Given the description of an element on the screen output the (x, y) to click on. 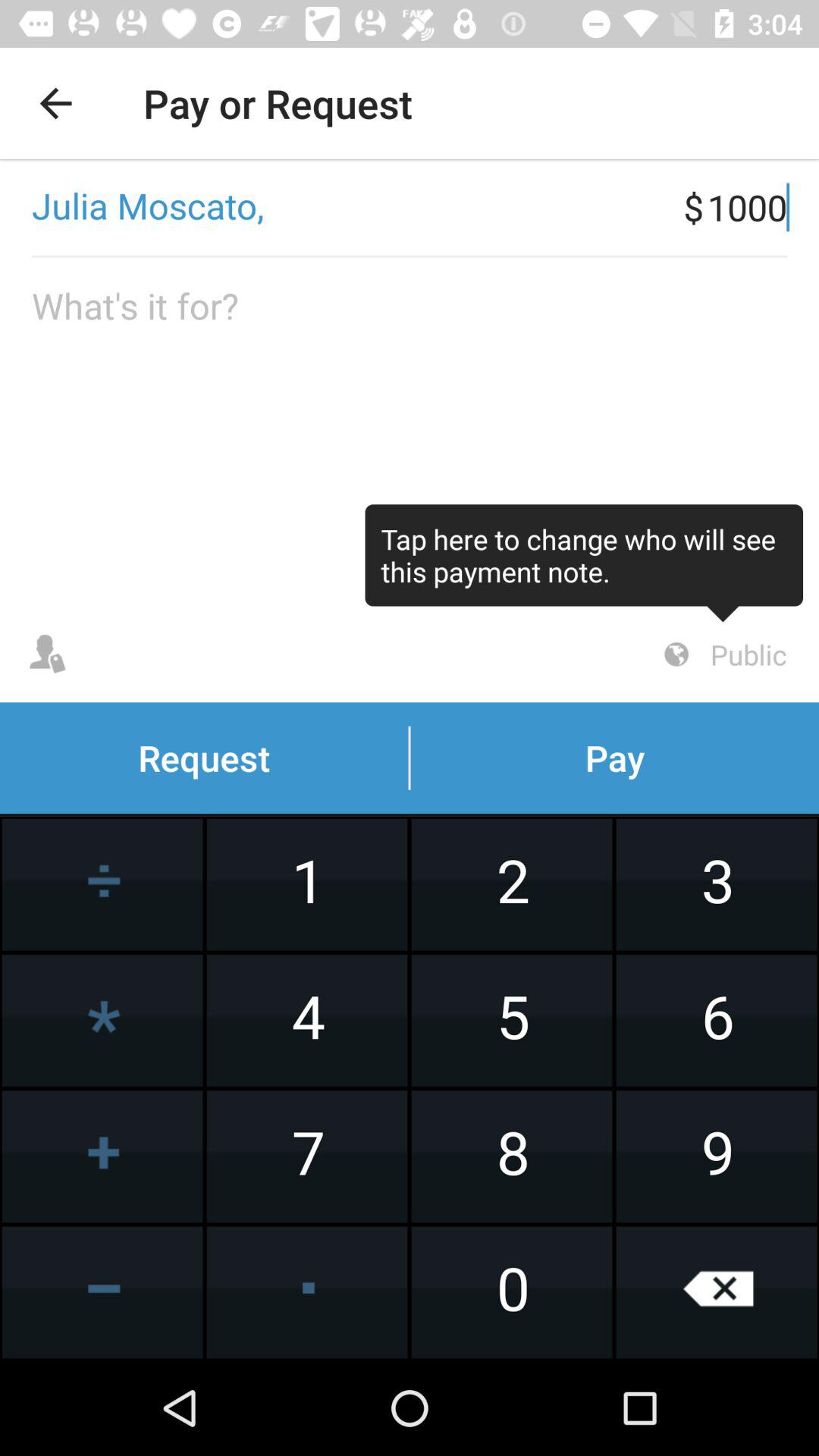
swipe to the public item (722, 654)
